Given the description of an element on the screen output the (x, y) to click on. 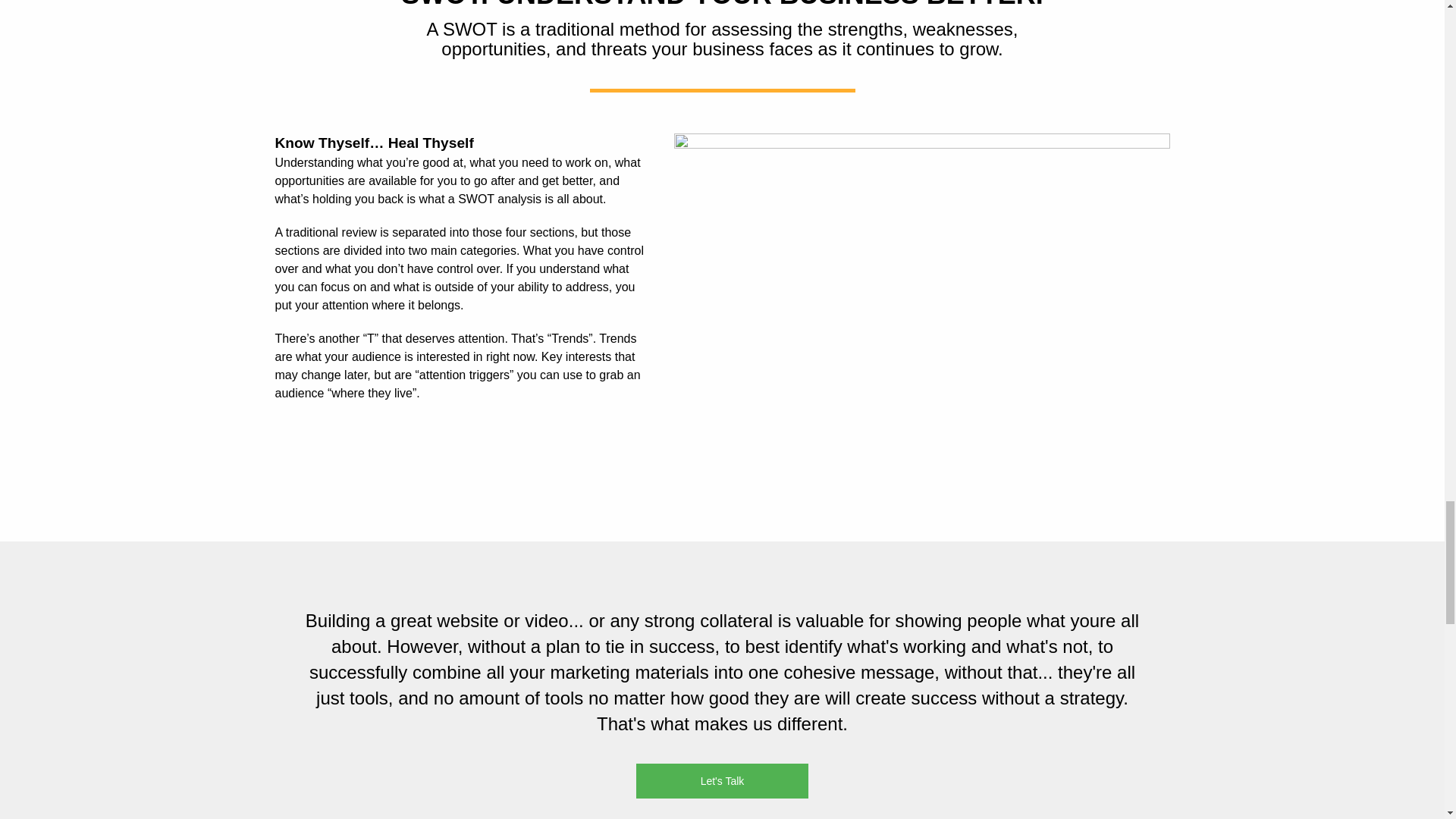
Let's Talk (722, 780)
